Given the description of an element on the screen output the (x, y) to click on. 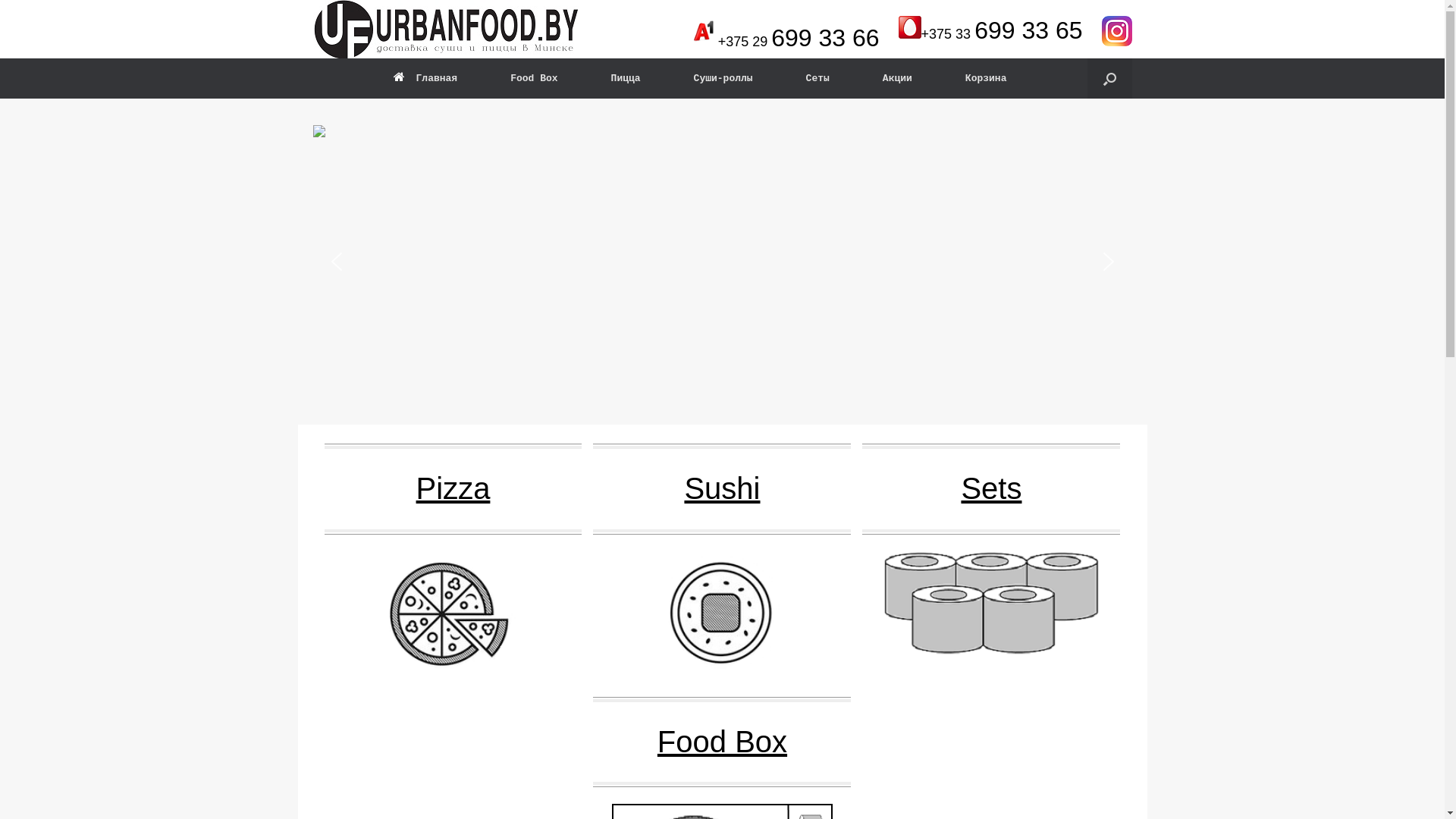
Sets Element type: text (991, 549)
Pizza Element type: text (453, 557)
Sushi Element type: text (721, 556)
UrbanFood.by Element type: hover (444, 29)
Food Box Element type: text (533, 78)
